Given the description of an element on the screen output the (x, y) to click on. 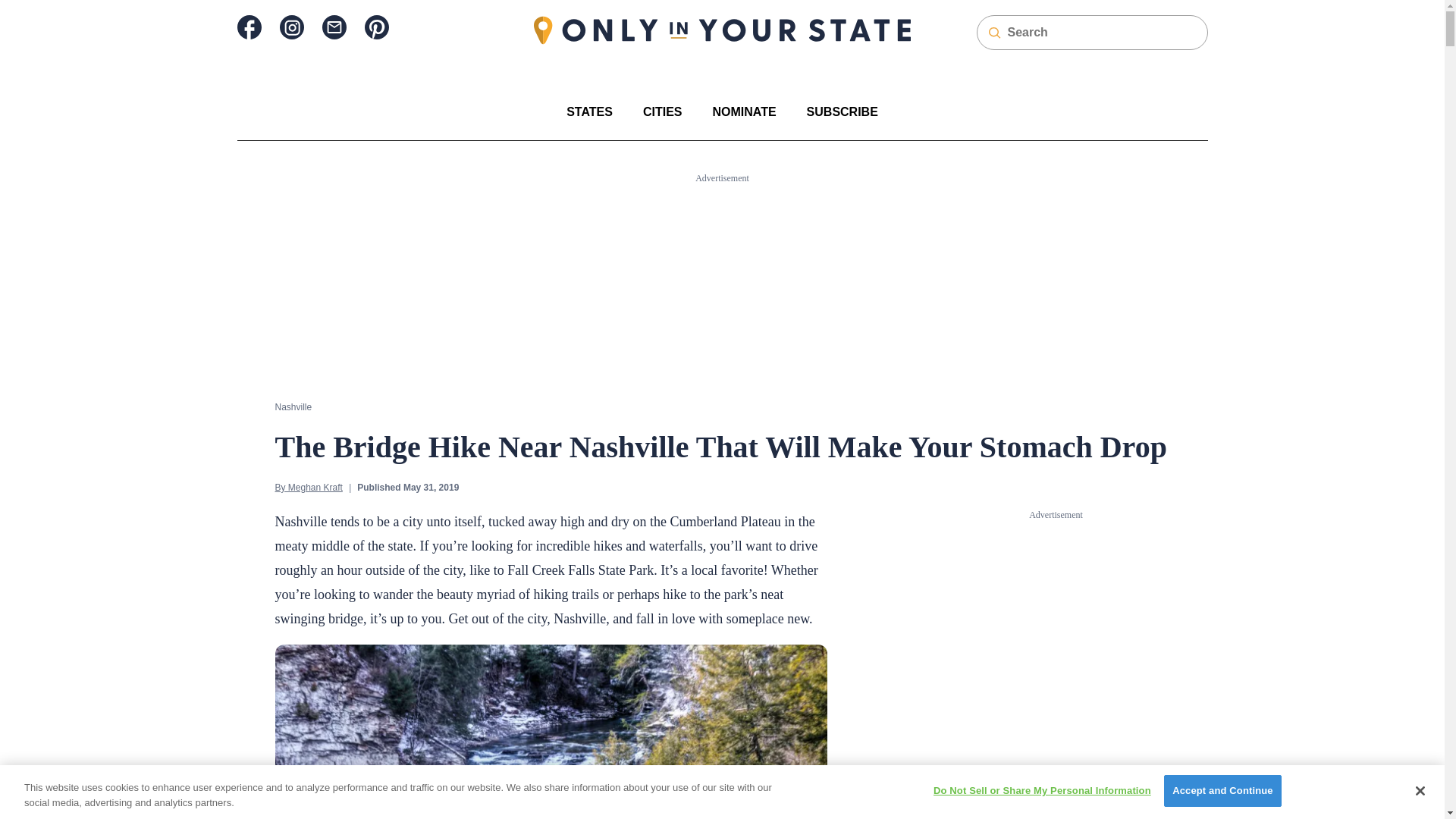
newsletter (333, 27)
facebook (247, 27)
instagram (290, 27)
Search (21, 7)
pinterest (376, 27)
Only in Your State (722, 30)
STATES (589, 111)
